Given the description of an element on the screen output the (x, y) to click on. 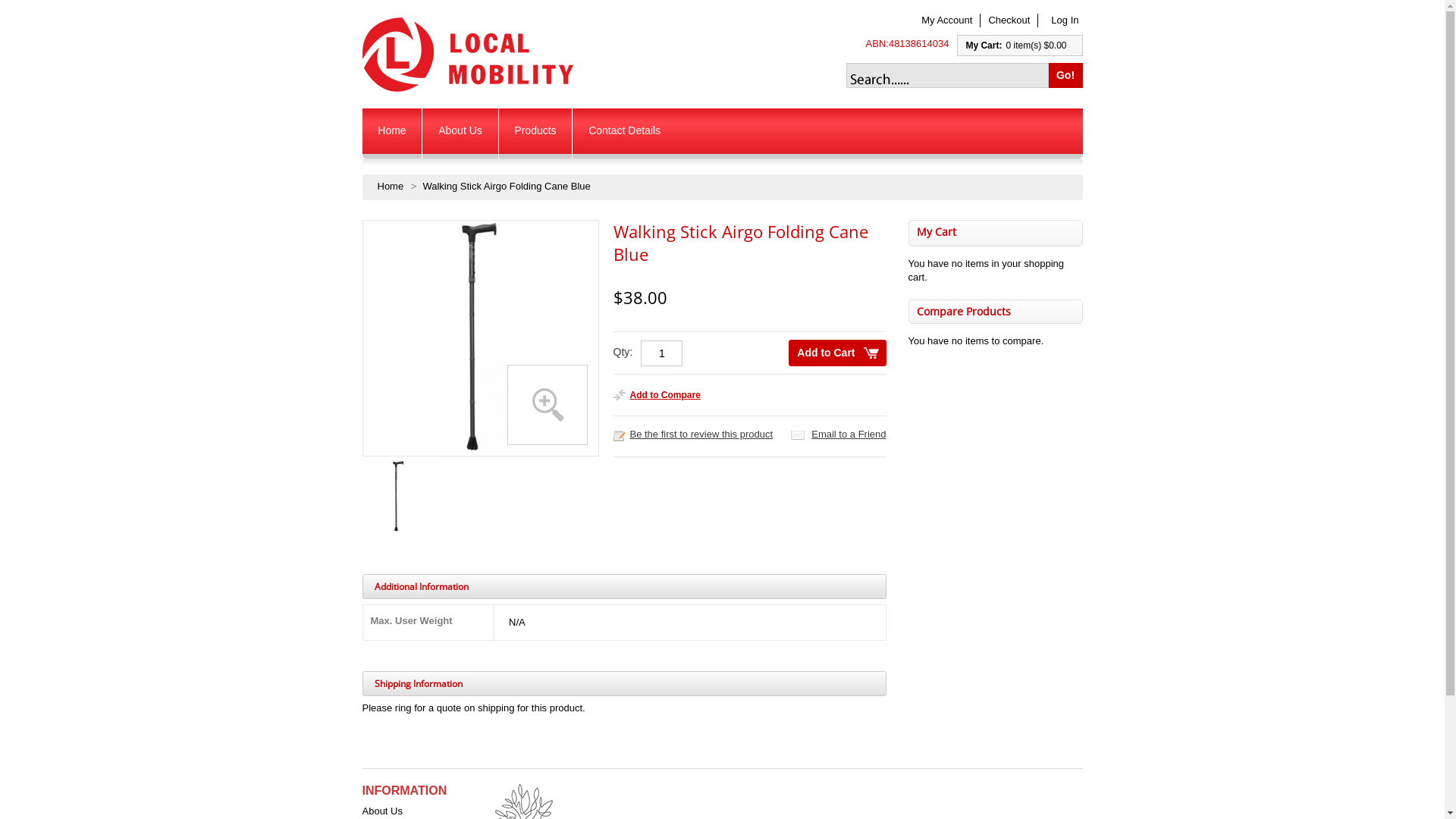
Add to Cart Element type: text (836, 352)
Qty Element type: hover (661, 353)
Log In Element type: text (1064, 20)
My Account Element type: text (946, 20)
Email to a Friend Element type: text (848, 433)
Products Element type: text (535, 133)
About Us Element type: text (459, 133)
Contact Details Element type: text (624, 133)
About Us Element type: text (382, 811)
Add to Compare Element type: text (655, 394)
Logo Element type: hover (468, 54)
Go! Element type: text (1065, 74)
Home Element type: text (390, 185)
Walking Stick Airgo Folding Cane Blue Element type: hover (479, 337)
Checkout Element type: text (1008, 20)
Be the first to review this product Element type: text (700, 433)
Home Element type: text (392, 133)
